Given the description of an element on the screen output the (x, y) to click on. 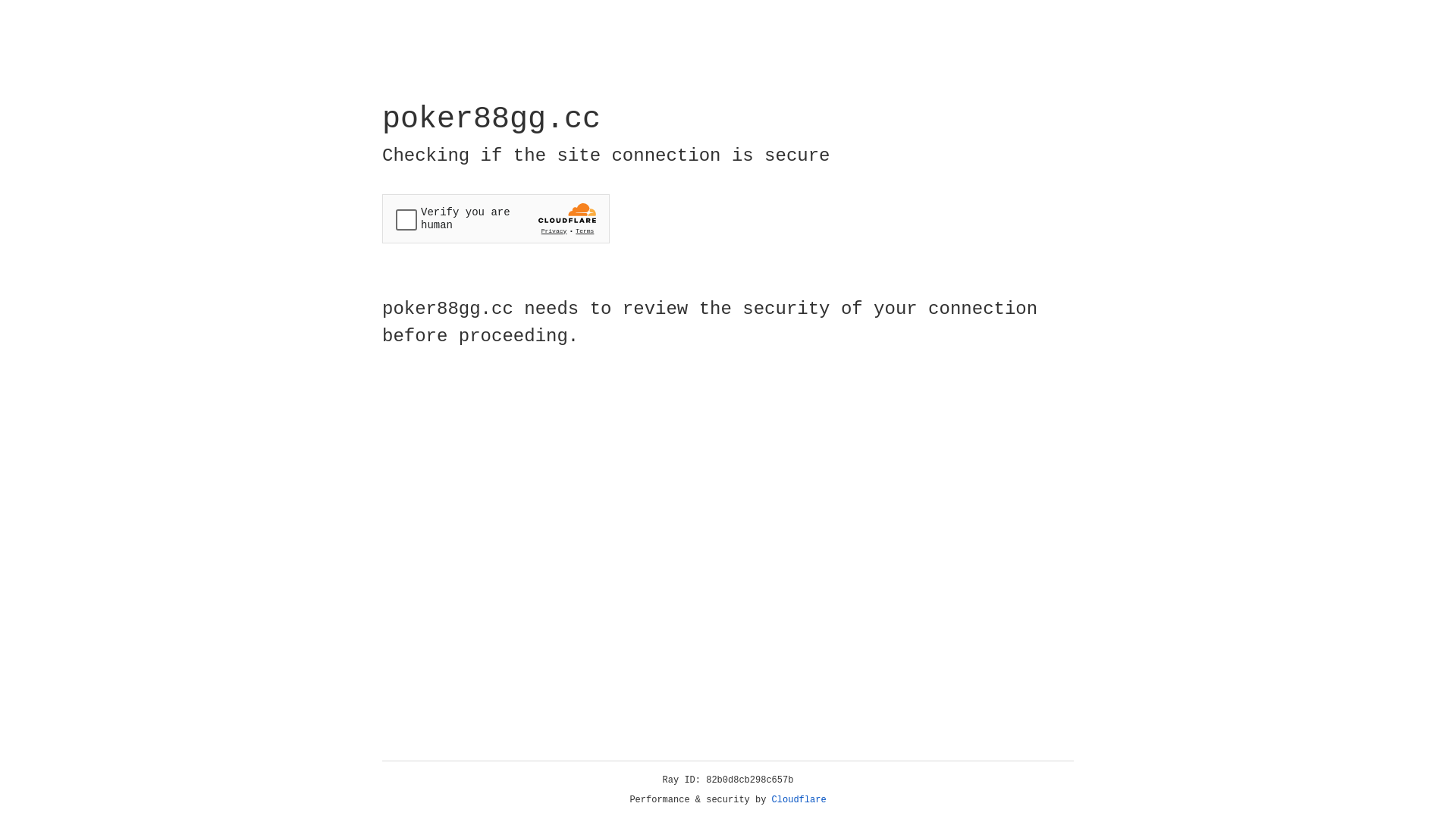
Cloudflare Element type: text (798, 799)
Widget containing a Cloudflare security challenge Element type: hover (495, 218)
